Given the description of an element on the screen output the (x, y) to click on. 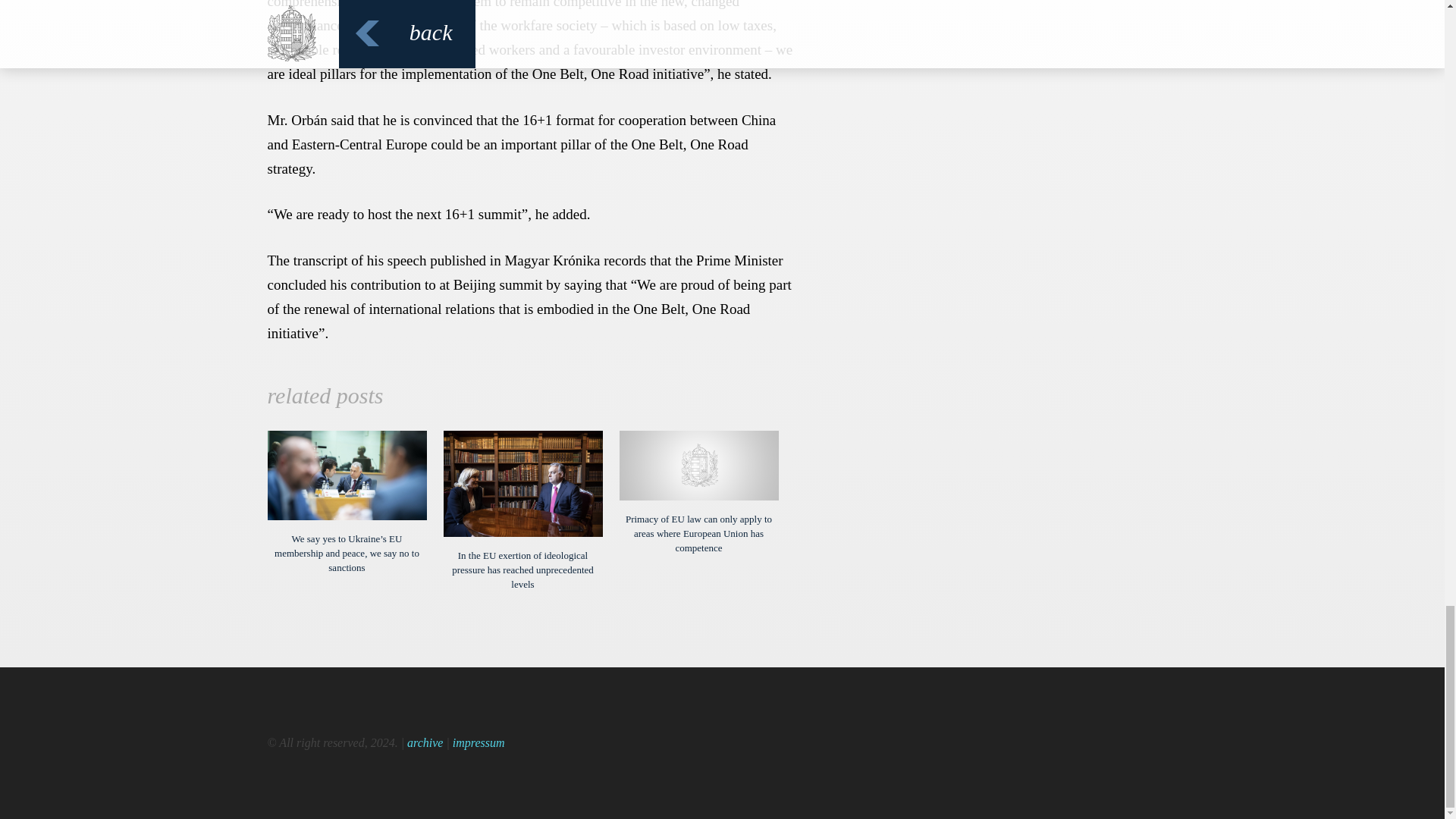
archive (424, 742)
impressum (478, 742)
